Given the description of an element on the screen output the (x, y) to click on. 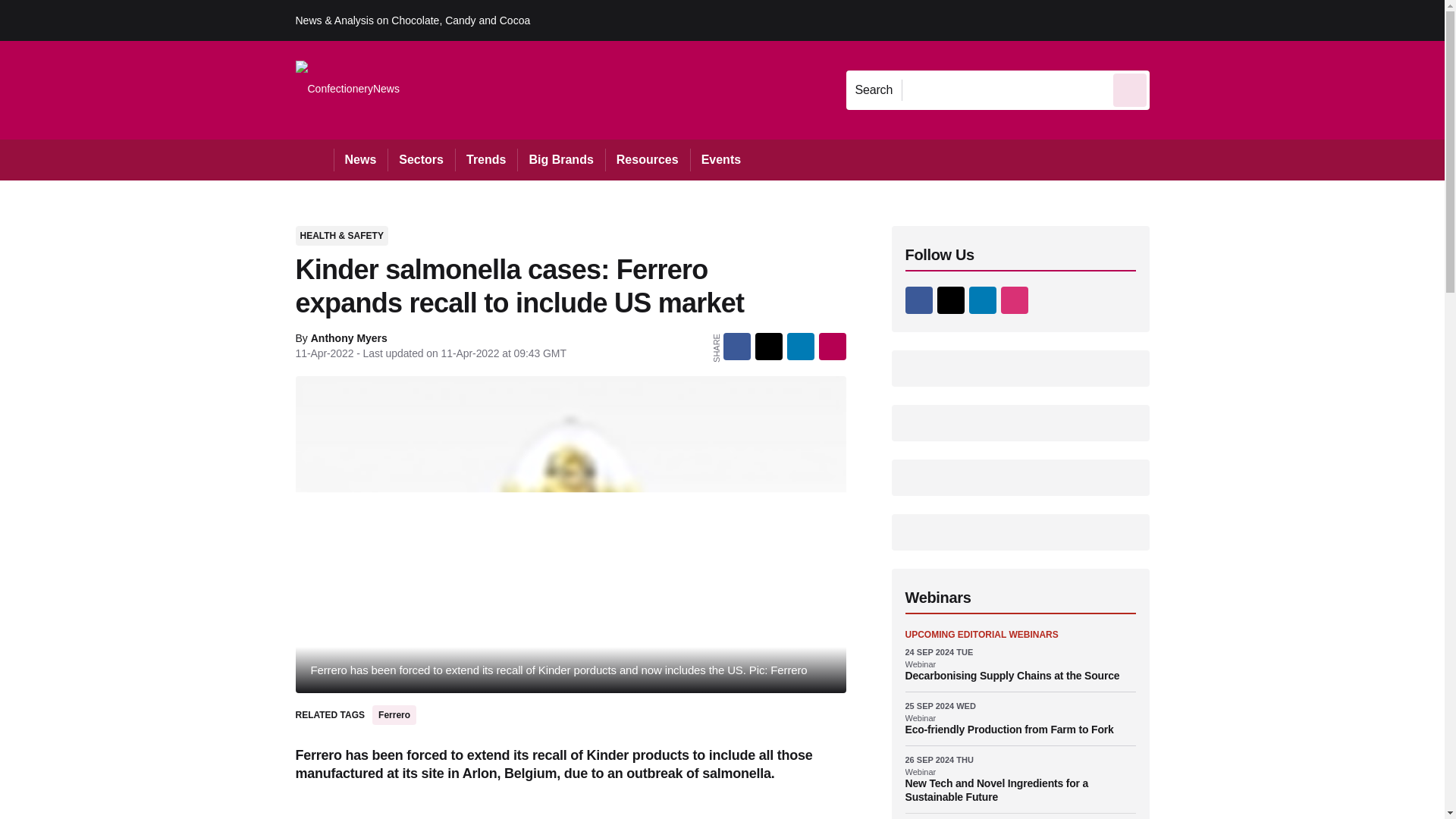
ConfectioneryNews (346, 89)
Sign out (1174, 20)
Home (314, 159)
Sign in (1171, 20)
Send (1129, 89)
Sectors (420, 159)
Trends (485, 159)
My account (1256, 20)
Send (1129, 90)
News (360, 159)
